Given the description of an element on the screen output the (x, y) to click on. 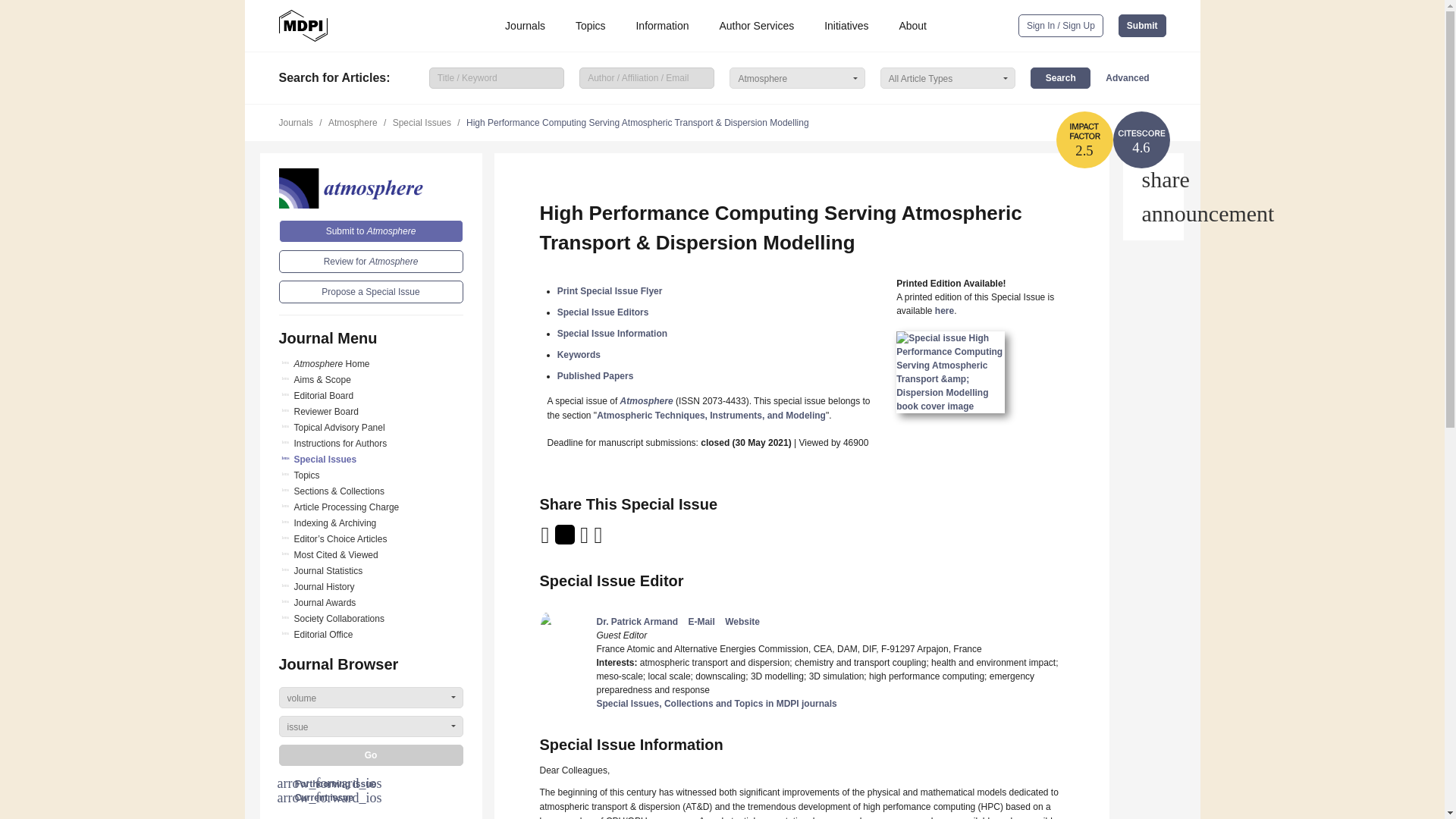
Wechat (617, 539)
Help (1152, 213)
Twitter (565, 539)
Search (1060, 77)
LinkedIn (585, 539)
Search (1060, 77)
facebook (599, 539)
Email (546, 539)
Atmosphere (371, 188)
Go (371, 754)
